Given the description of an element on the screen output the (x, y) to click on. 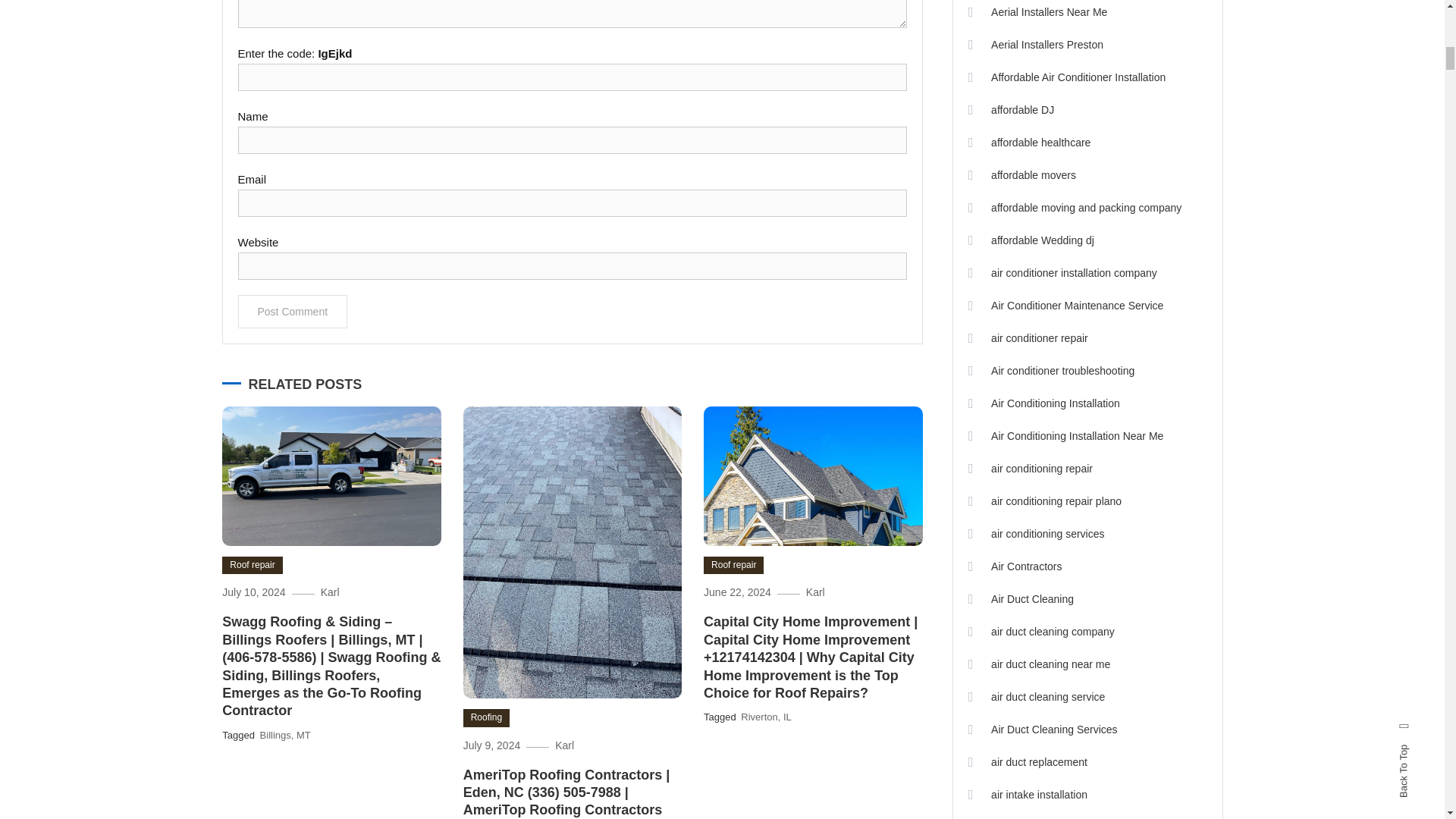
Post Comment (292, 311)
